Given the description of an element on the screen output the (x, y) to click on. 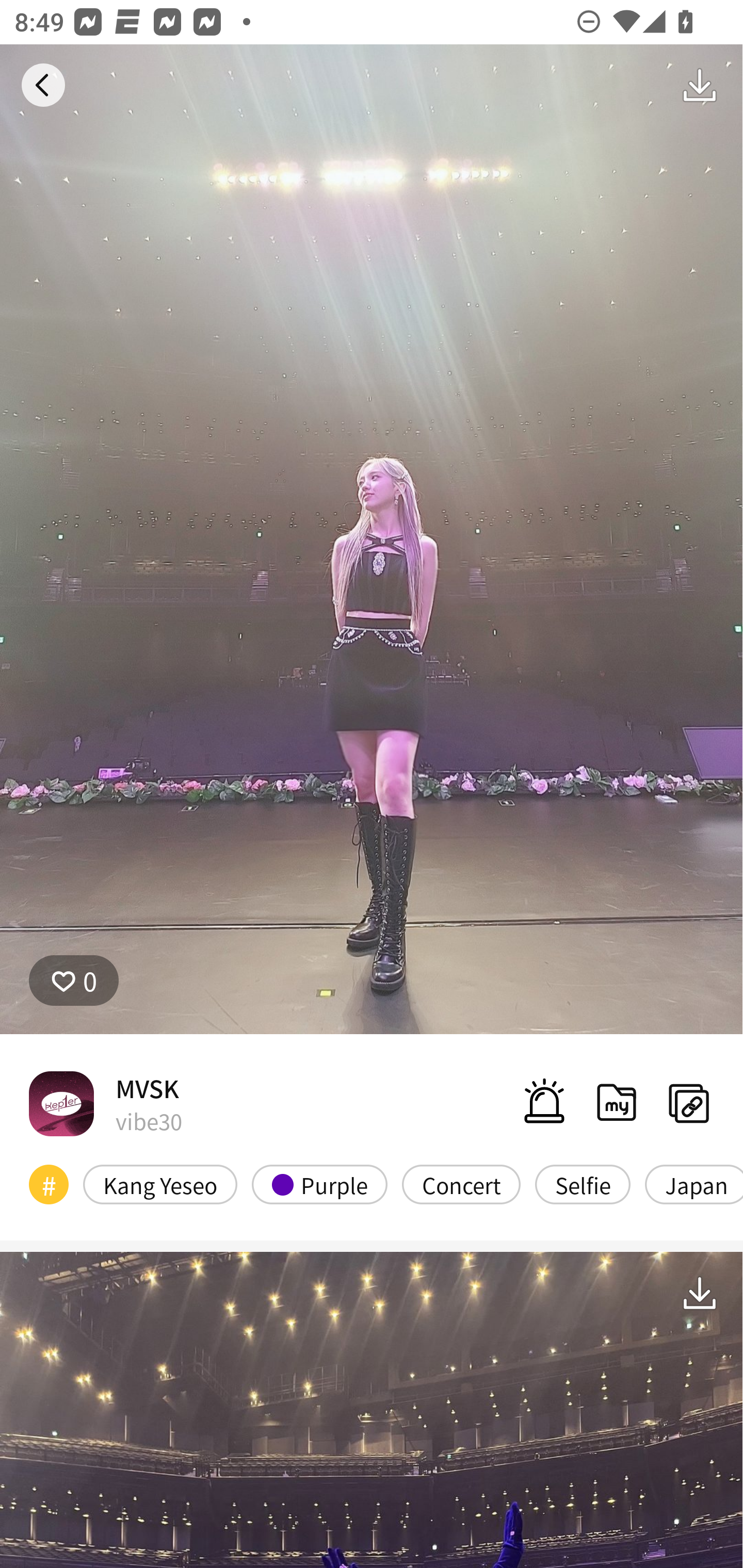
0 (73, 980)
MVSK vibe30 (105, 1102)
Kang Yeseo (160, 1184)
Purple (319, 1184)
Concert (460, 1184)
Selfie (582, 1184)
Japan (693, 1184)
